Given the description of an element on the screen output the (x, y) to click on. 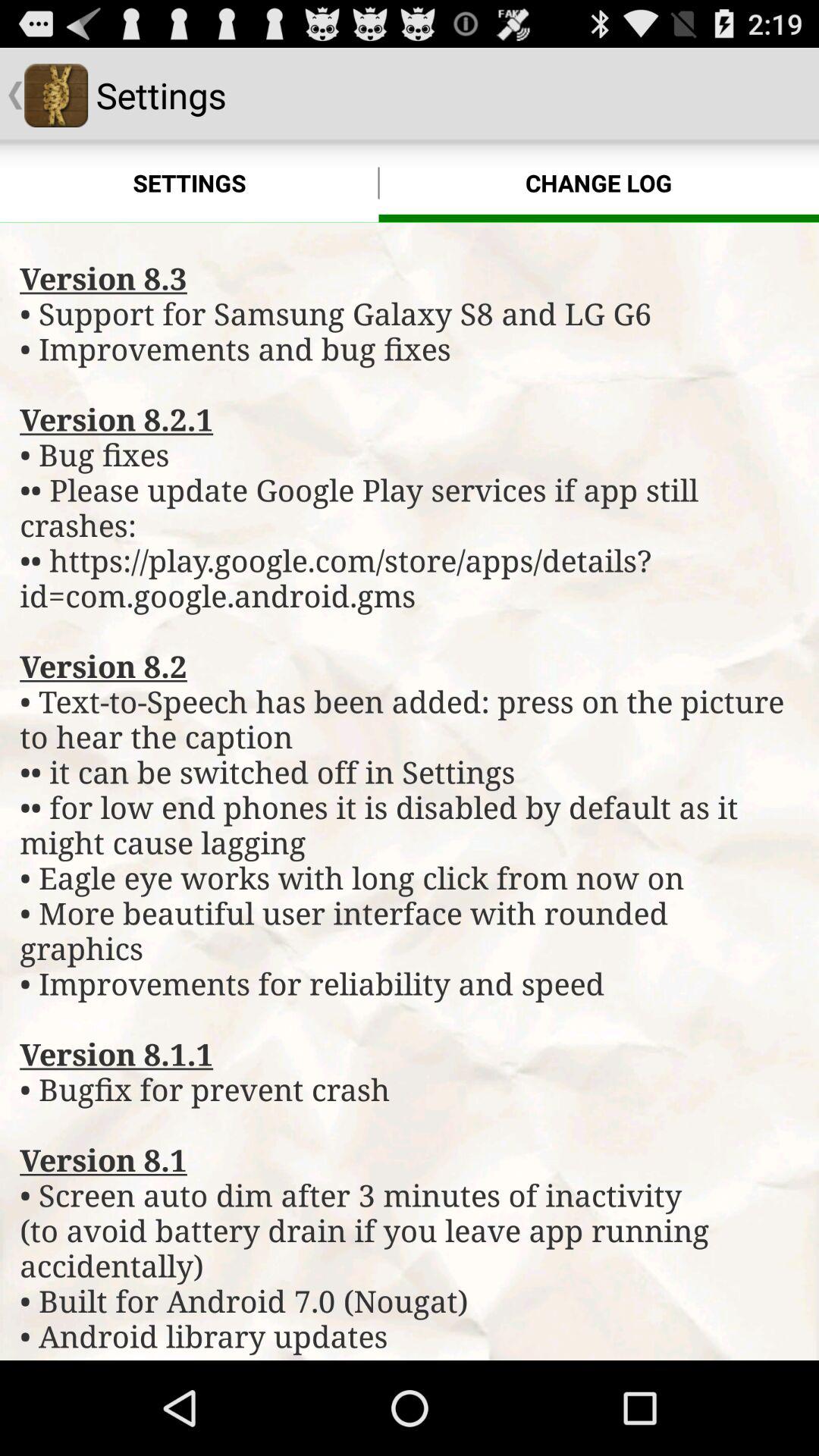
launch the app next to settings item (598, 182)
